Given the description of an element on the screen output the (x, y) to click on. 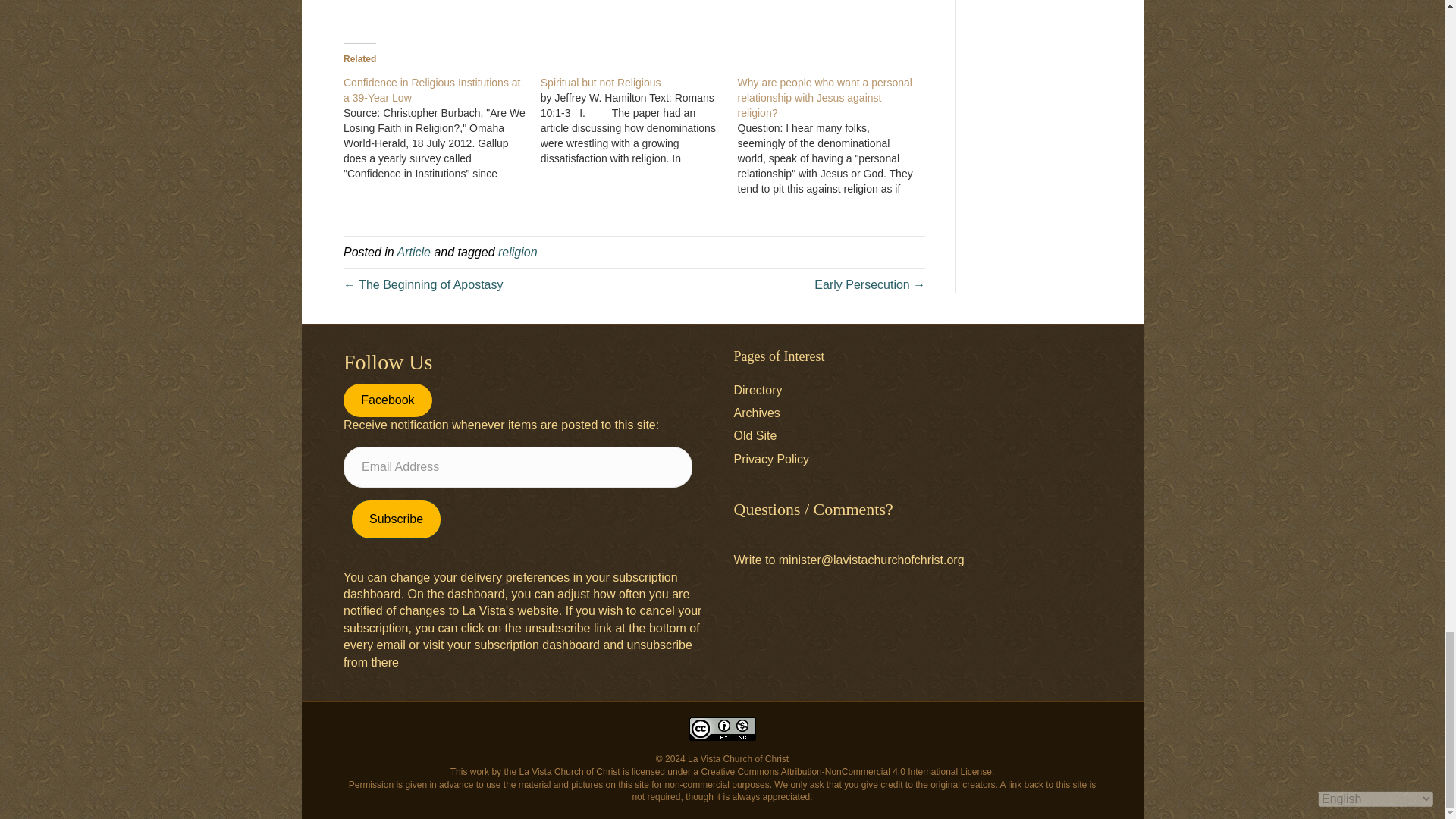
Spiritual but not Religious (600, 82)
Confidence in Religious Institutions at a 39-Year Low (431, 90)
Spiritual but not Religious (639, 120)
Confidence in Religious Institutions at a 39-Year Low (441, 127)
